Given the description of an element on the screen output the (x, y) to click on. 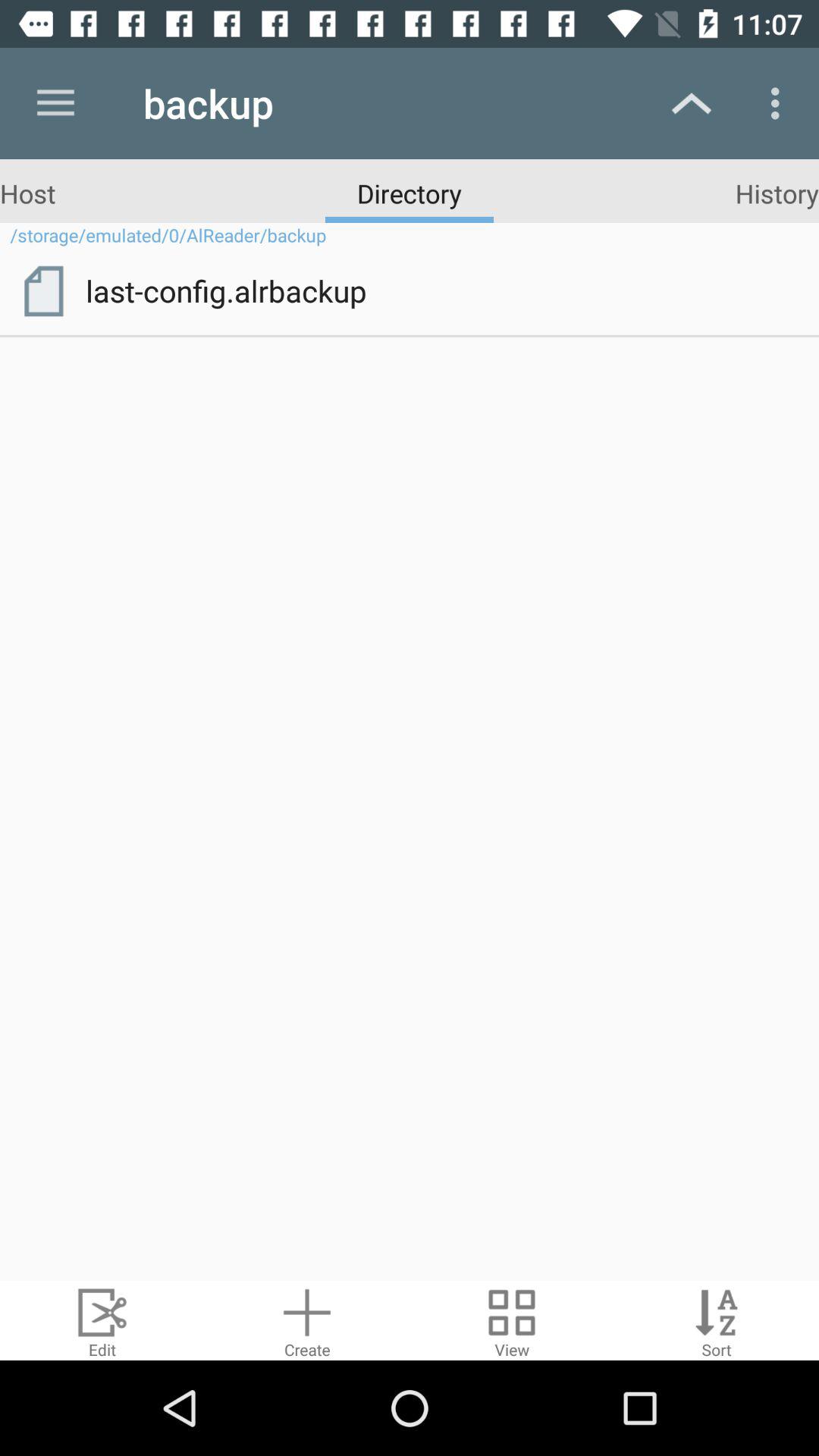
flip until the host icon (27, 193)
